Given the description of an element on the screen output the (x, y) to click on. 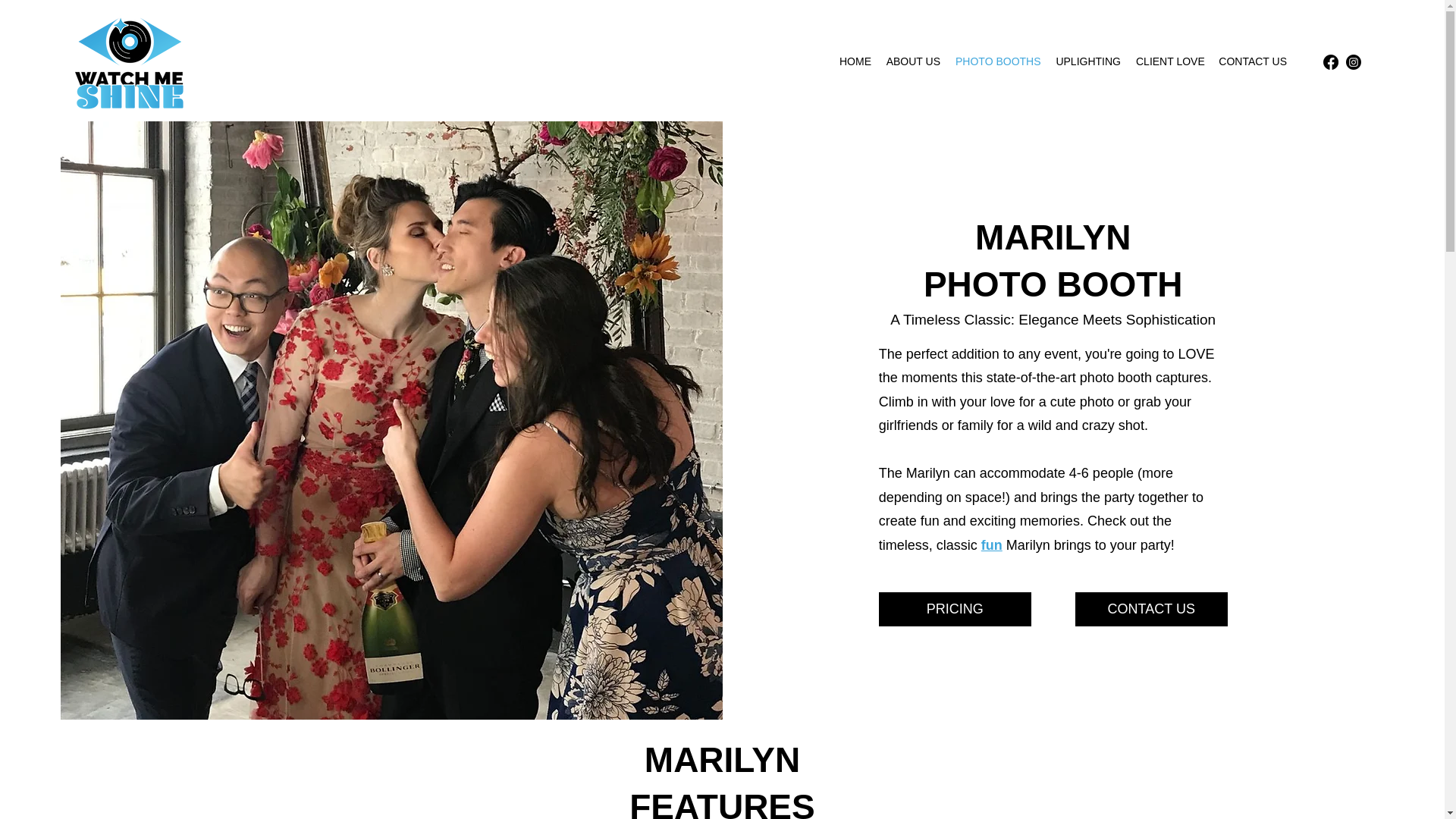
CONTACT US (1251, 60)
PRICING (954, 609)
PHOTO BOOTHS (997, 60)
ABOUT US (912, 60)
fun (992, 544)
CONTACT US (1151, 609)
CLIENT LOVE (1168, 60)
HOME (854, 60)
UPLIGHTING (1088, 60)
